Given the description of an element on the screen output the (x, y) to click on. 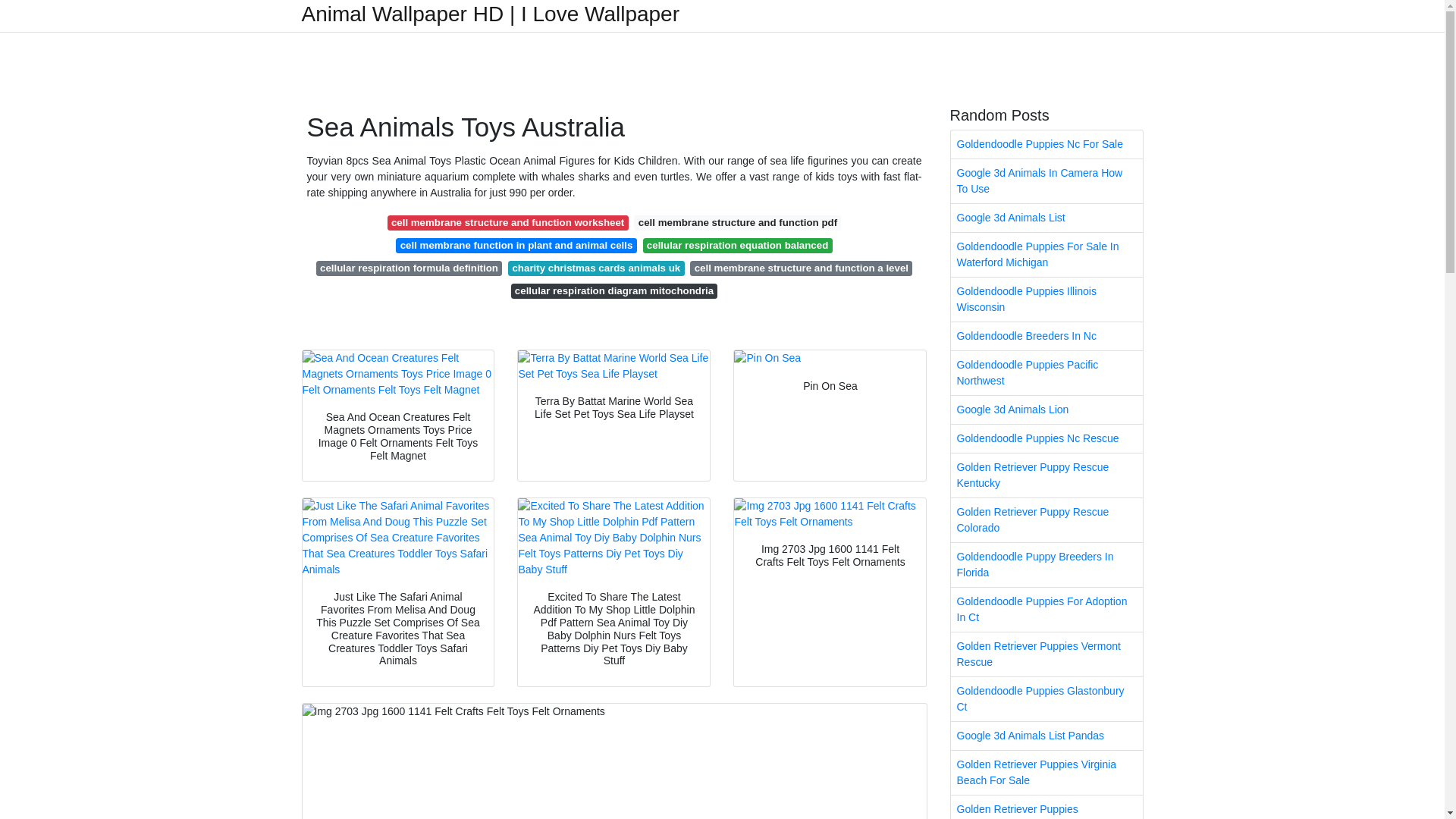
charity christmas cards animals uk (596, 268)
Google 3d Animals List (1046, 217)
cell membrane function in plant and animal cells (516, 245)
cellular respiration diagram mitochondria (614, 290)
Google 3d Animals Lion (1046, 409)
Goldendoodle Puppies Nc For Sale (1046, 144)
Goldendoodle Puppies Illinois Wisconsin (1046, 299)
cell membrane structure and function a level (801, 268)
cell membrane structure and function pdf (737, 222)
Goldendoodle Puppies Nc Rescue (1046, 438)
